Given the description of an element on the screen output the (x, y) to click on. 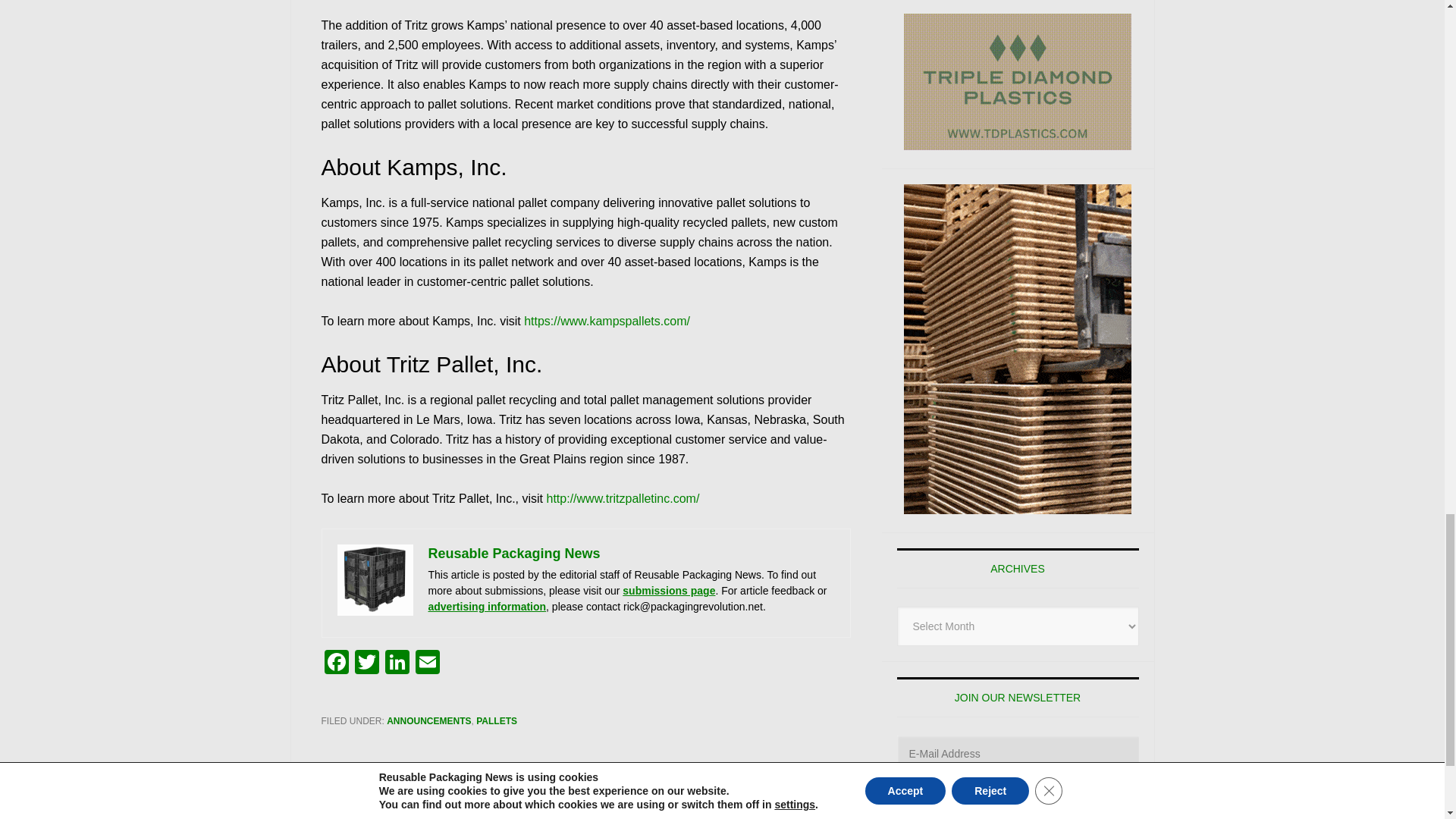
LinkedIn (396, 664)
Kamps, Inc. Acquires Tritz Pallet, Inc. 3 (374, 579)
Reusable Packaging News (513, 553)
LinkedIn (396, 664)
Email (427, 664)
advertising information (487, 606)
Email (427, 664)
ANNOUNCEMENTS (428, 720)
Facebook (336, 664)
PALLETS (496, 720)
SUBMIT (1017, 801)
Triple Diamond Plastics (1017, 81)
Litco.com (1017, 349)
Twitter (366, 664)
Facebook (336, 664)
